Given the description of an element on the screen output the (x, y) to click on. 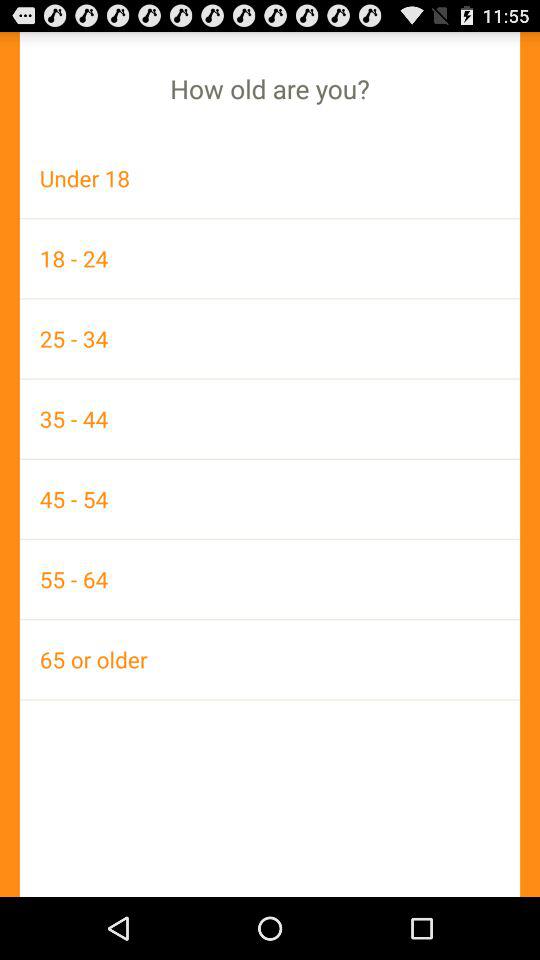
select item above the 35 - 44 item (269, 338)
